Given the description of an element on the screen output the (x, y) to click on. 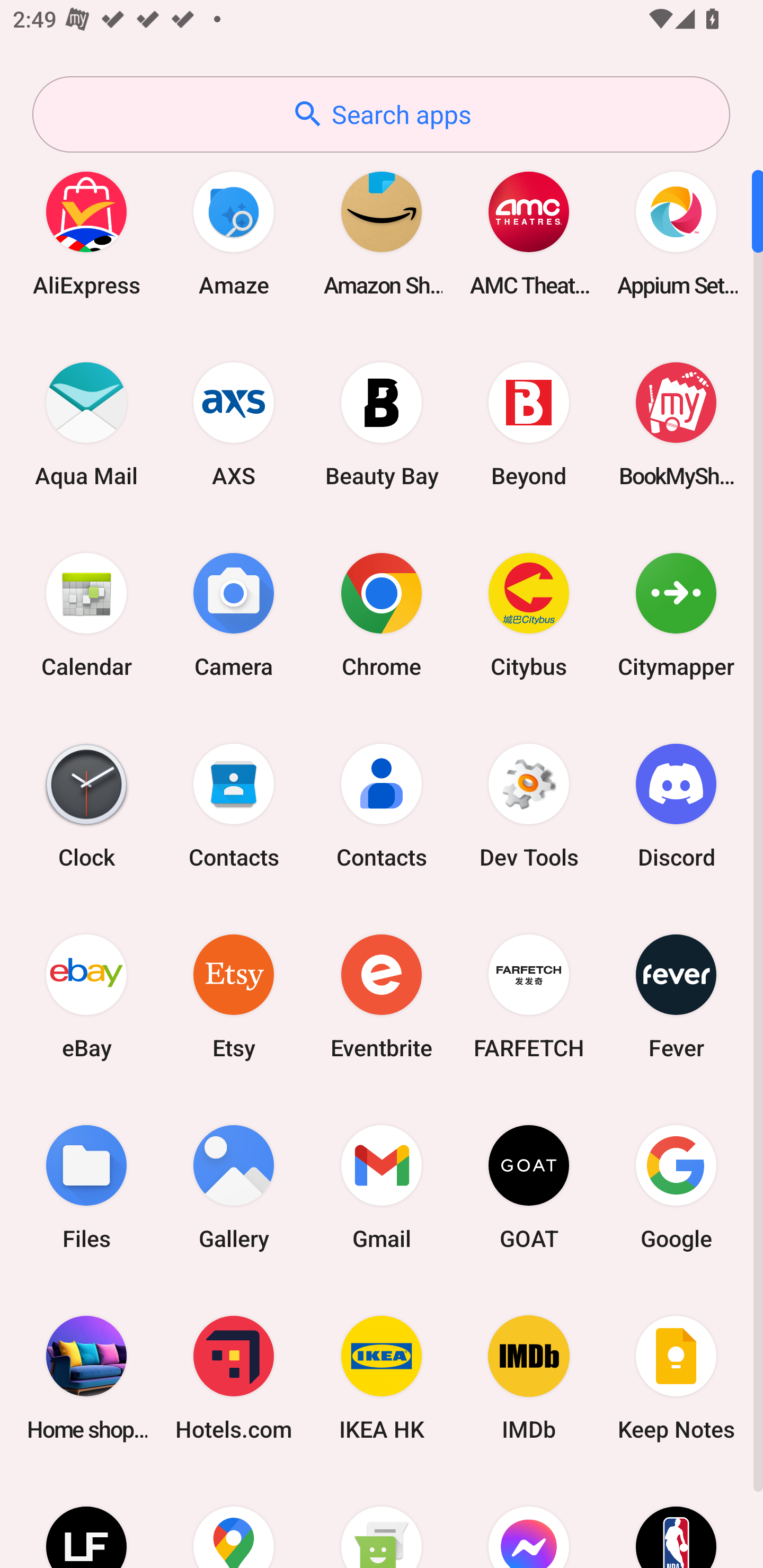
Citymapper (676, 614)
